Given the description of an element on the screen output the (x, y) to click on. 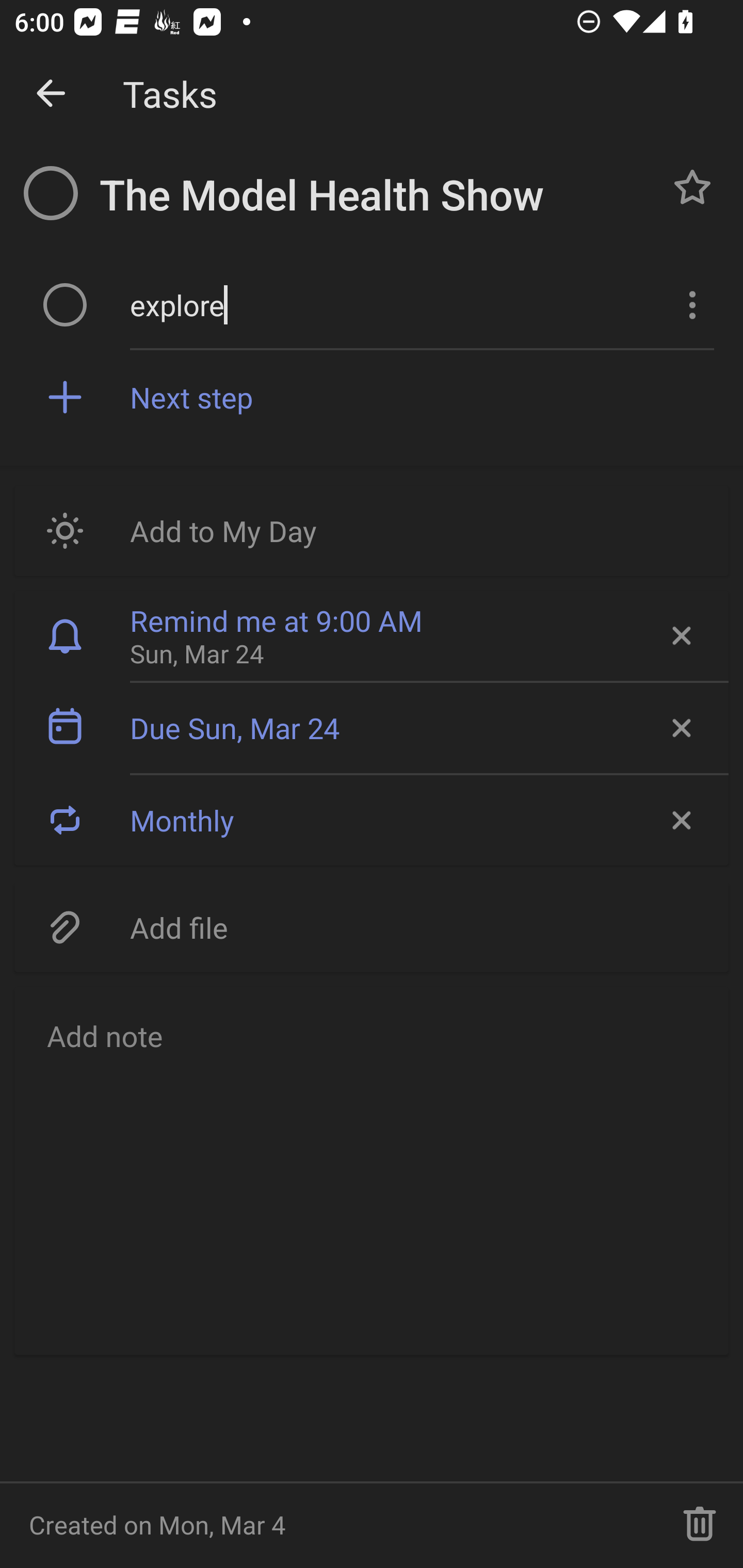
Dismiss detail view (50, 93)
Incomplete task The Model Health Show, Button (50, 192)
The Model Health Show (374, 195)
Normal task The Model Health Show, Button (692, 187)
explore (393, 304)
More Options (690, 304)
Uncompleted, explore, step, Button (64, 304)
Next step (422, 396)
Add to My Day (371, 530)
Remind me at 9:00 AM Sun, Mar 24 Remove reminder (371, 635)
Remove reminder (679, 635)
Due Sun, Mar 24 Due Sun, Mar 24 Remove due date (371, 728)
Remove due date (679, 728)
Remove recurrence (679, 819)
Add file (371, 926)
Add note, Button Email Renderer Add note (371, 1170)
Delete task (699, 1524)
